Given the description of an element on the screen output the (x, y) to click on. 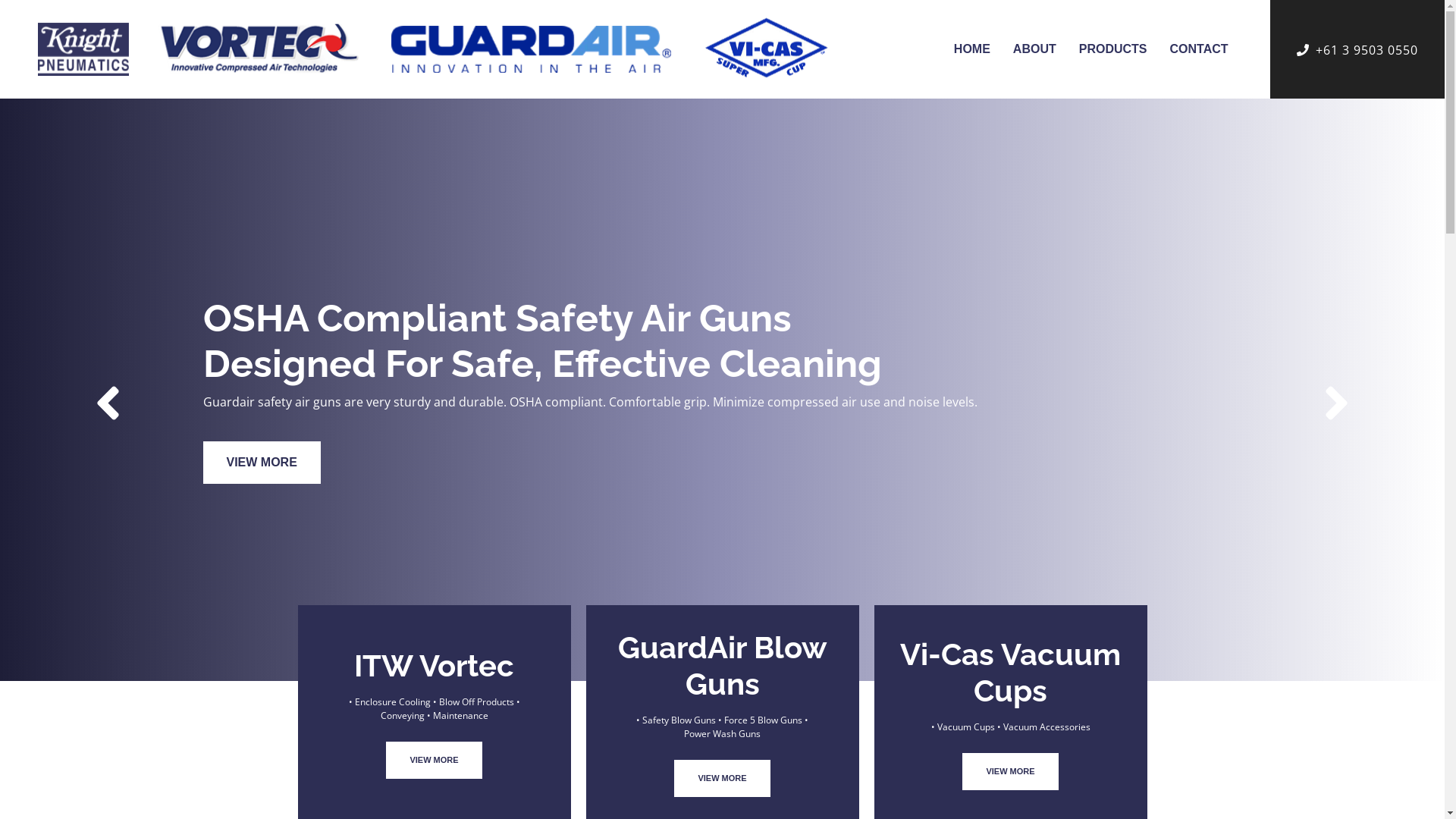
ABOUT Element type: text (1034, 56)
VIEW MORE Element type: text (433, 759)
VIEW MORE Element type: text (721, 778)
+61 3 9503 0550 Element type: text (1366, 45)
VIEW MORE Element type: text (1009, 771)
CONTACT Element type: text (1198, 56)
HOME Element type: text (971, 56)
VIEW MORE Element type: text (261, 462)
PRODUCTS Element type: text (1112, 56)
